Given the description of an element on the screen output the (x, y) to click on. 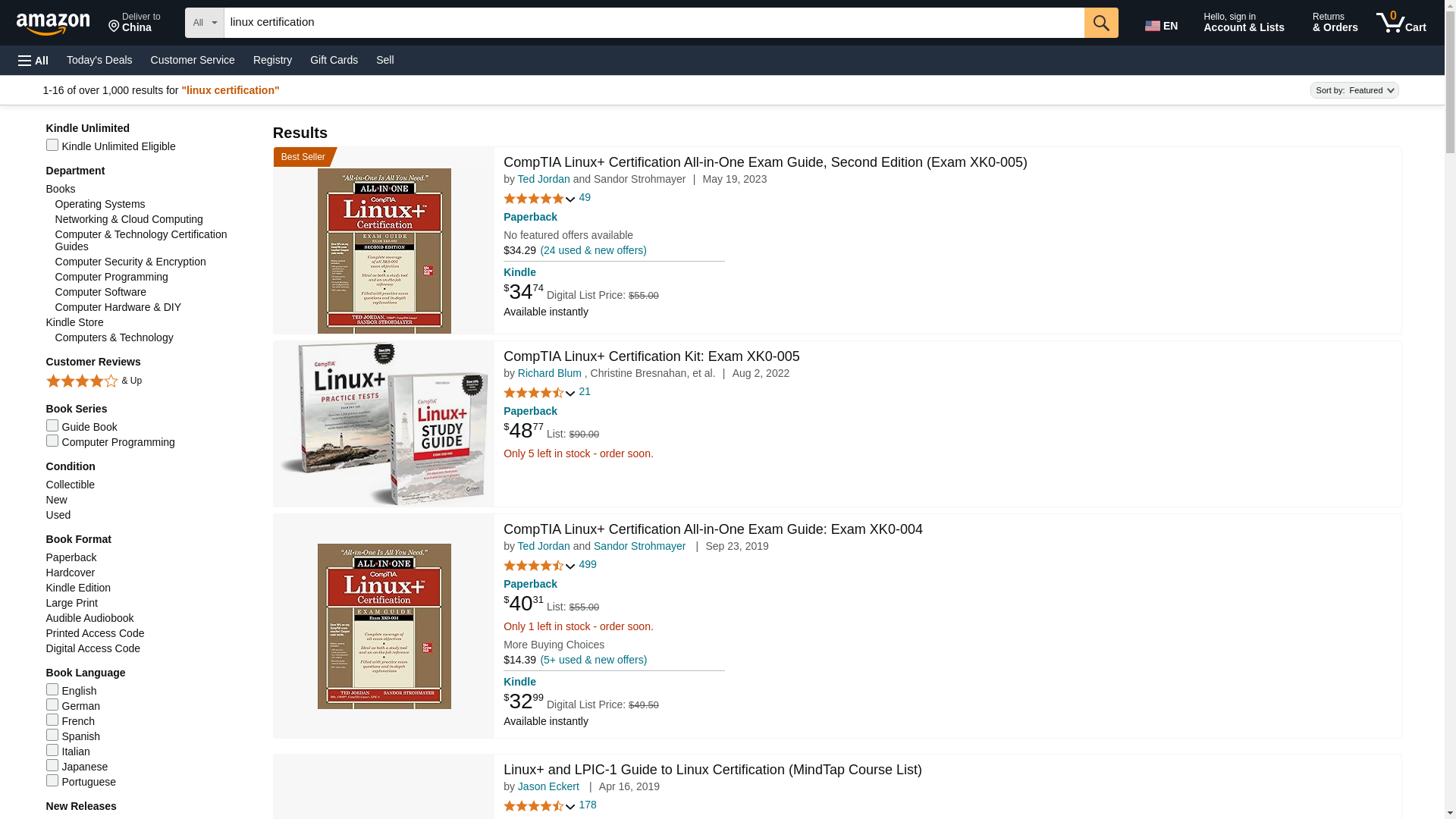
Go (1101, 22)
Kindle (519, 272)
Richard Blum (549, 372)
EN (1163, 22)
Skip to main content (60, 21)
Ted Jordan (544, 178)
Paperback (530, 583)
Ted Jordan (544, 545)
Registry (272, 59)
Paperback (530, 410)
